Given the description of an element on the screen output the (x, y) to click on. 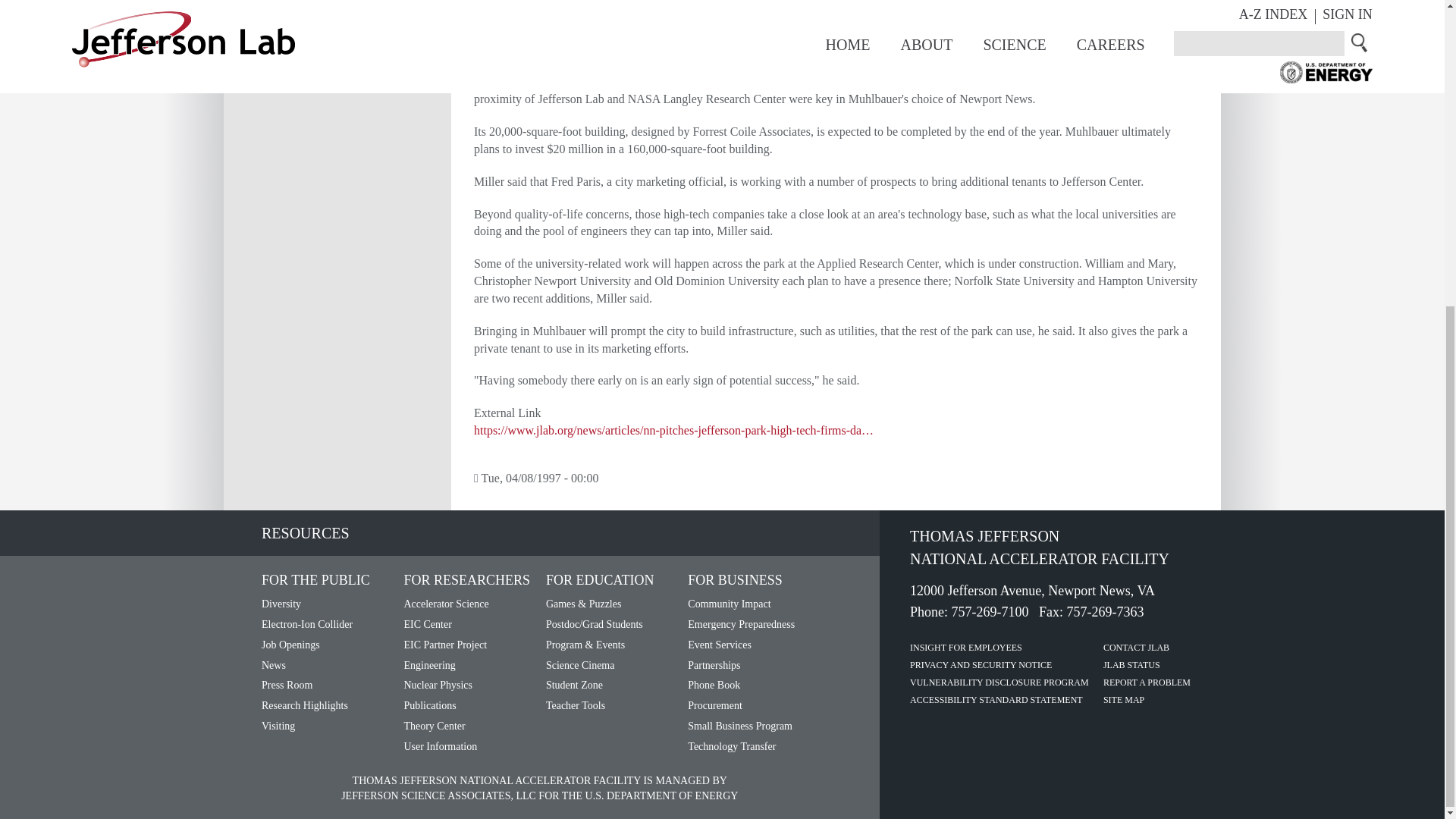
The Electron-Ion Collider Center at Jefferson Lab (427, 624)
News (273, 665)
Education (599, 580)
